Given the description of an element on the screen output the (x, y) to click on. 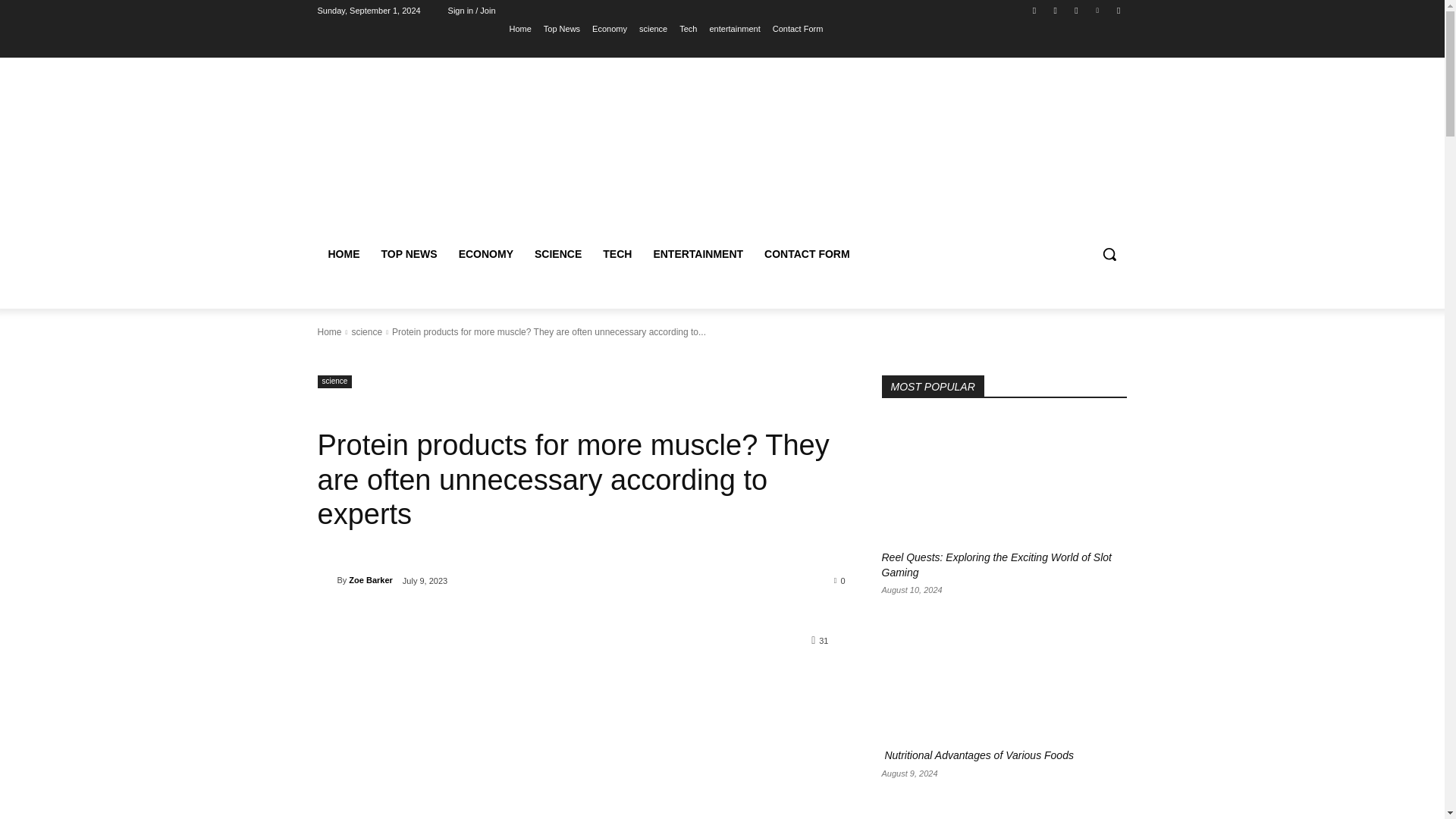
Top News (561, 28)
SCIENCE (558, 253)
science (365, 331)
Home (519, 28)
ECONOMY (486, 253)
TOP NEWS (407, 253)
CONTACT FORM (807, 253)
entertainment (734, 28)
Vimeo (1097, 9)
Contact Form (798, 28)
